Given the description of an element on the screen output the (x, y) to click on. 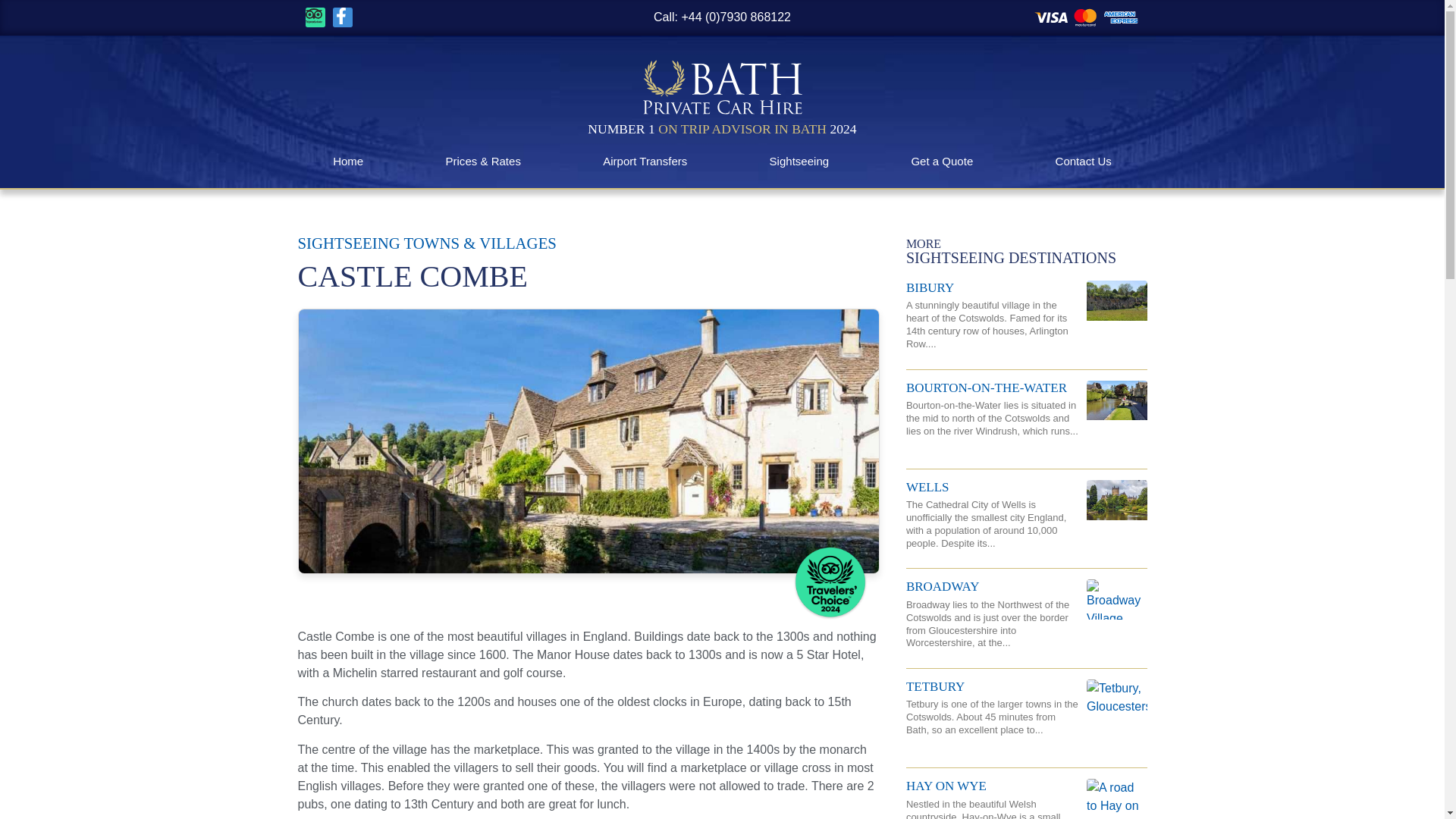
Sightseeing (798, 160)
Home (347, 160)
Airport Transfers (644, 160)
Card-logos-01 (1086, 17)
BOURTON-ON-THE-WATER (986, 387)
Get a Quote (942, 160)
Contact Us (1083, 160)
BIBURY (929, 287)
BROADWAY (942, 586)
NUMBER 1 ON TRIP ADVISOR IN BATH 2024 (722, 128)
WELLS (927, 486)
